Given the description of an element on the screen output the (x, y) to click on. 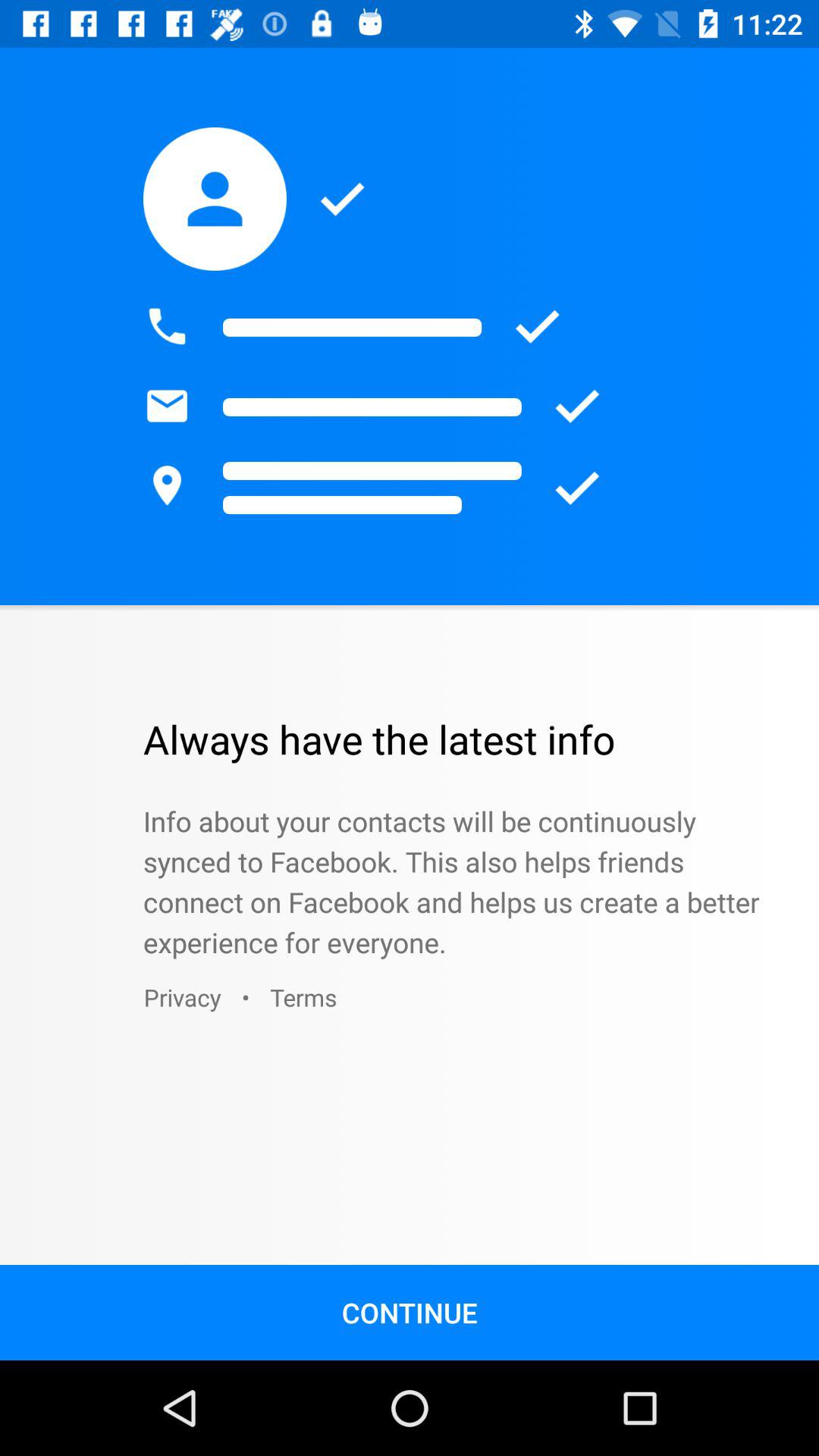
select icon above the continue (182, 997)
